Given the description of an element on the screen output the (x, y) to click on. 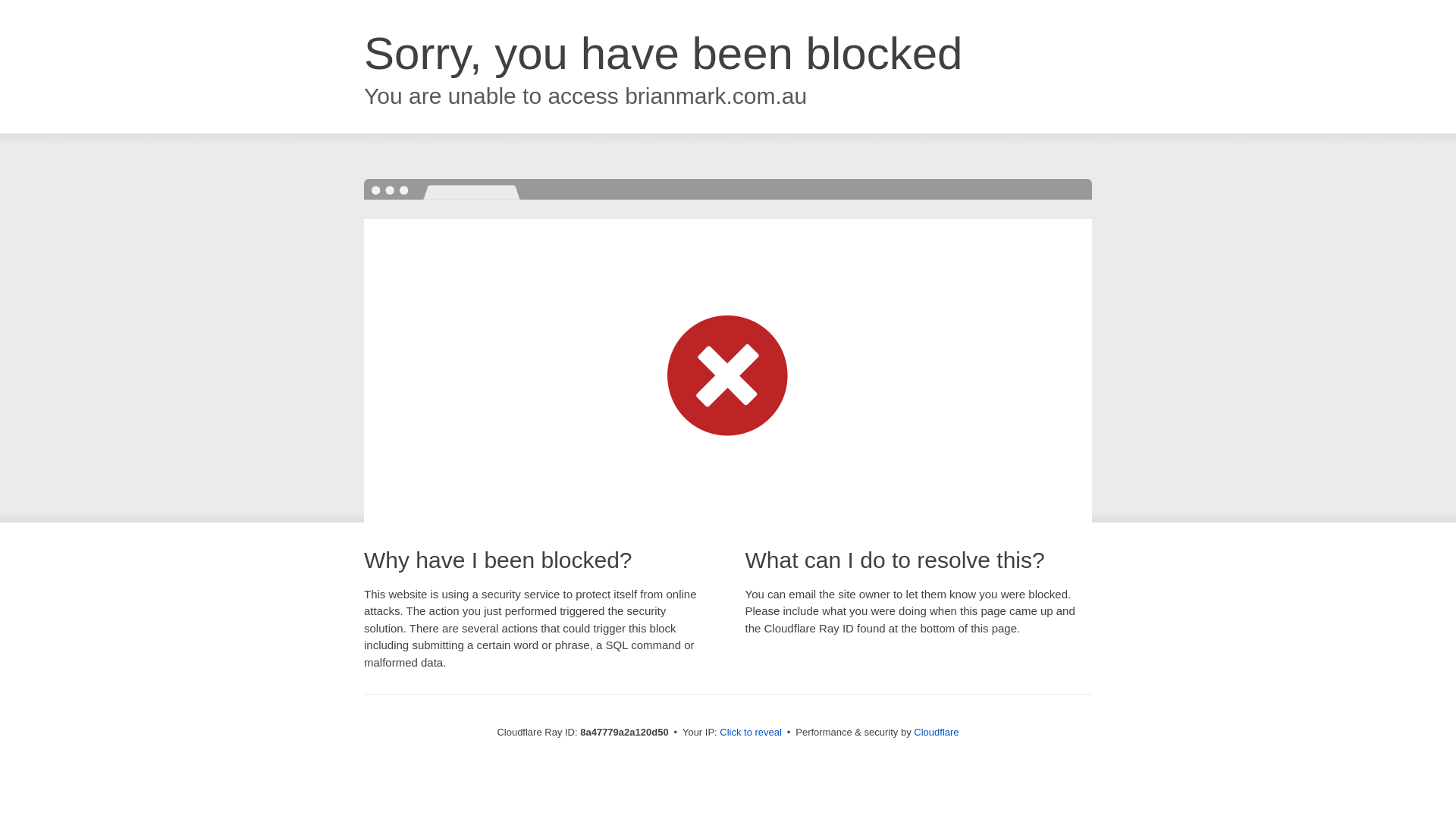
Click to reveal (750, 732)
Cloudflare (936, 731)
